Given the description of an element on the screen output the (x, y) to click on. 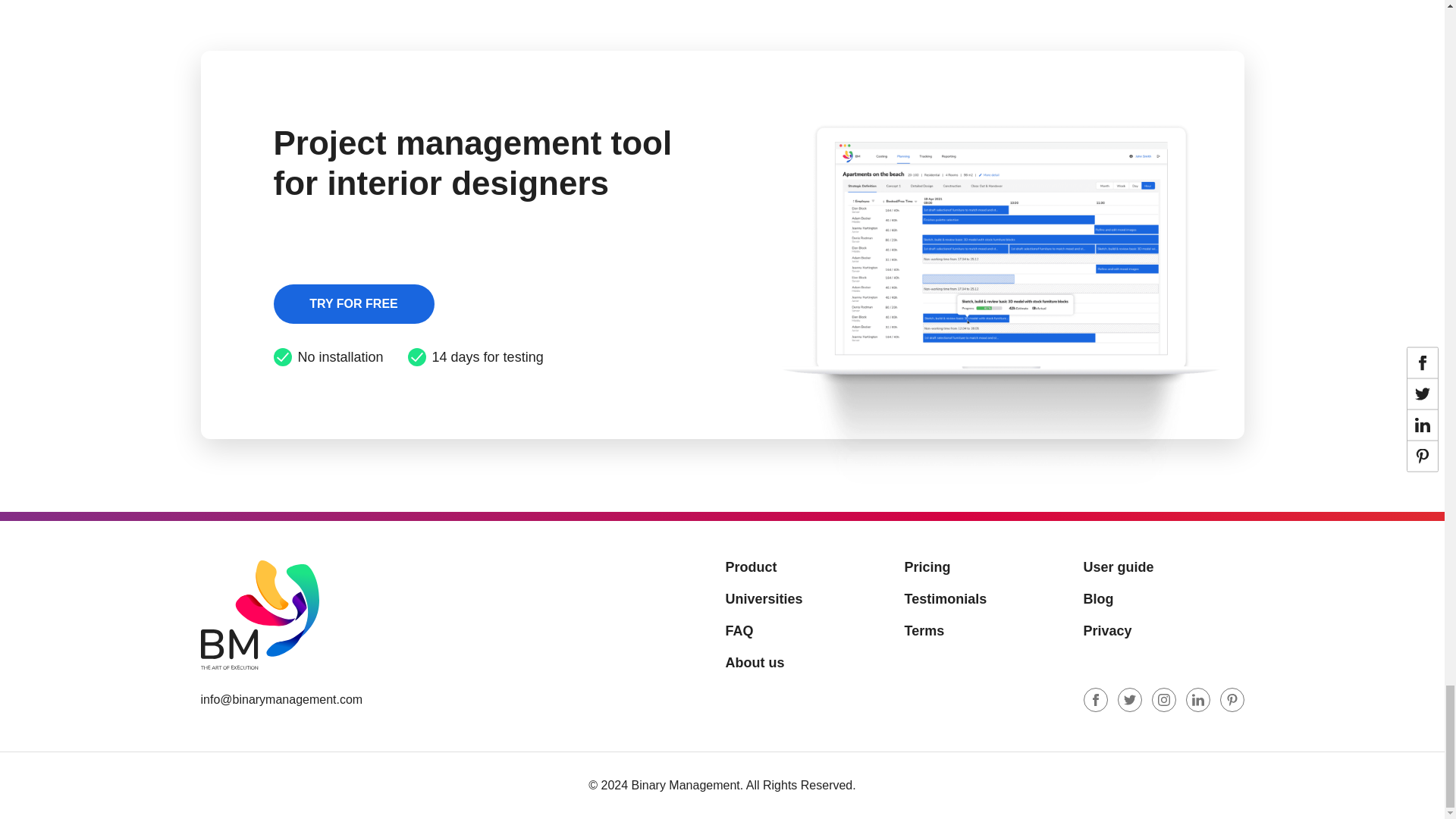
TRY FOR FREE (353, 303)
Product (805, 567)
Testimonials (984, 599)
About us (805, 662)
Privacy (1163, 631)
FAQ (805, 631)
Terms (984, 631)
User guide (1163, 567)
Universities (805, 599)
Pricing (984, 567)
